Given the description of an element on the screen output the (x, y) to click on. 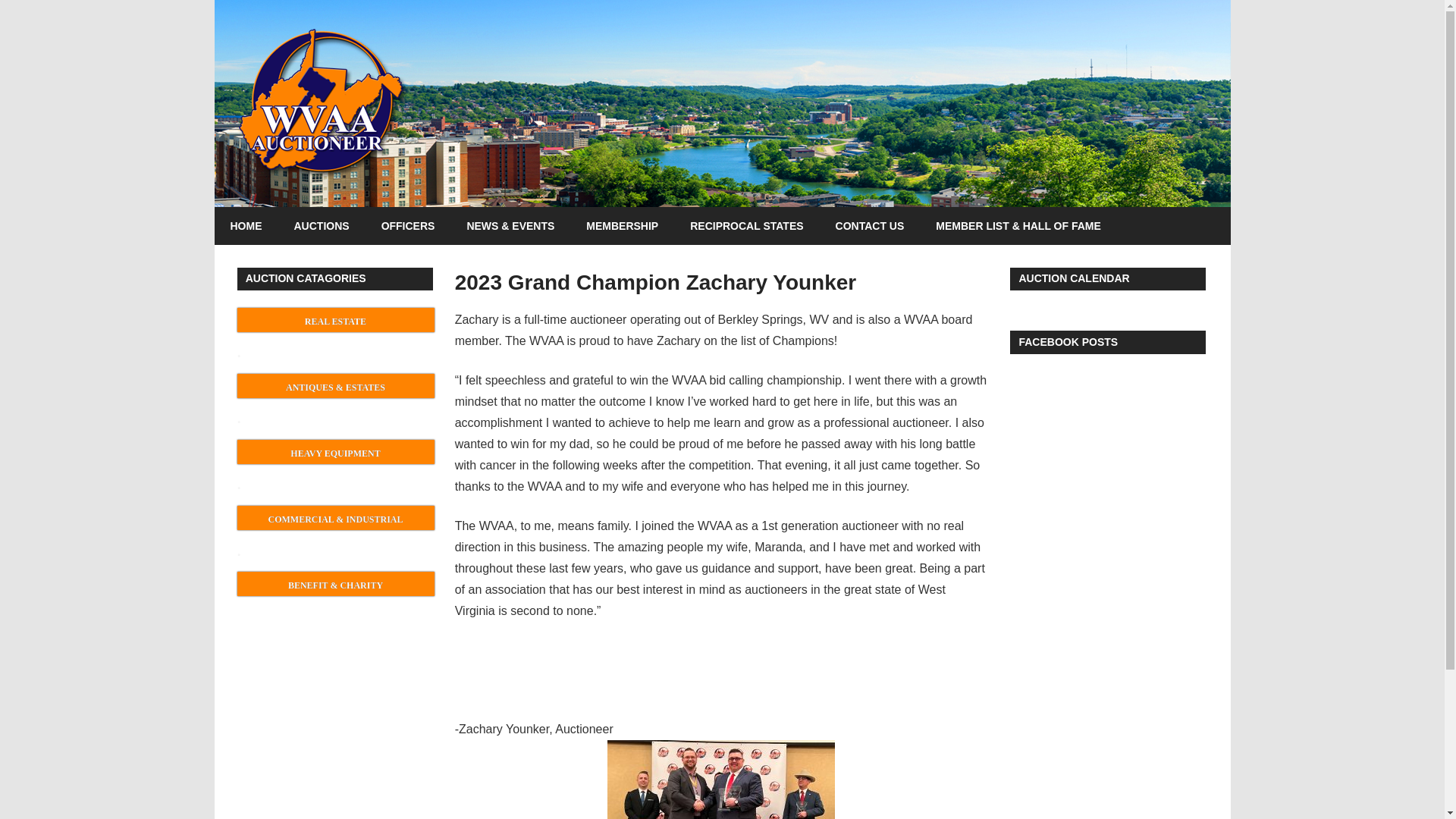
RECIPROCAL STATES (746, 225)
HEAVY EQUIPMENT (334, 451)
REAL ESTATE (334, 319)
AUCTIONS (321, 225)
CONTACT US (869, 225)
MEMBERSHIP (622, 225)
HOME (246, 225)
OFFICERS (408, 225)
